Given the description of an element on the screen output the (x, y) to click on. 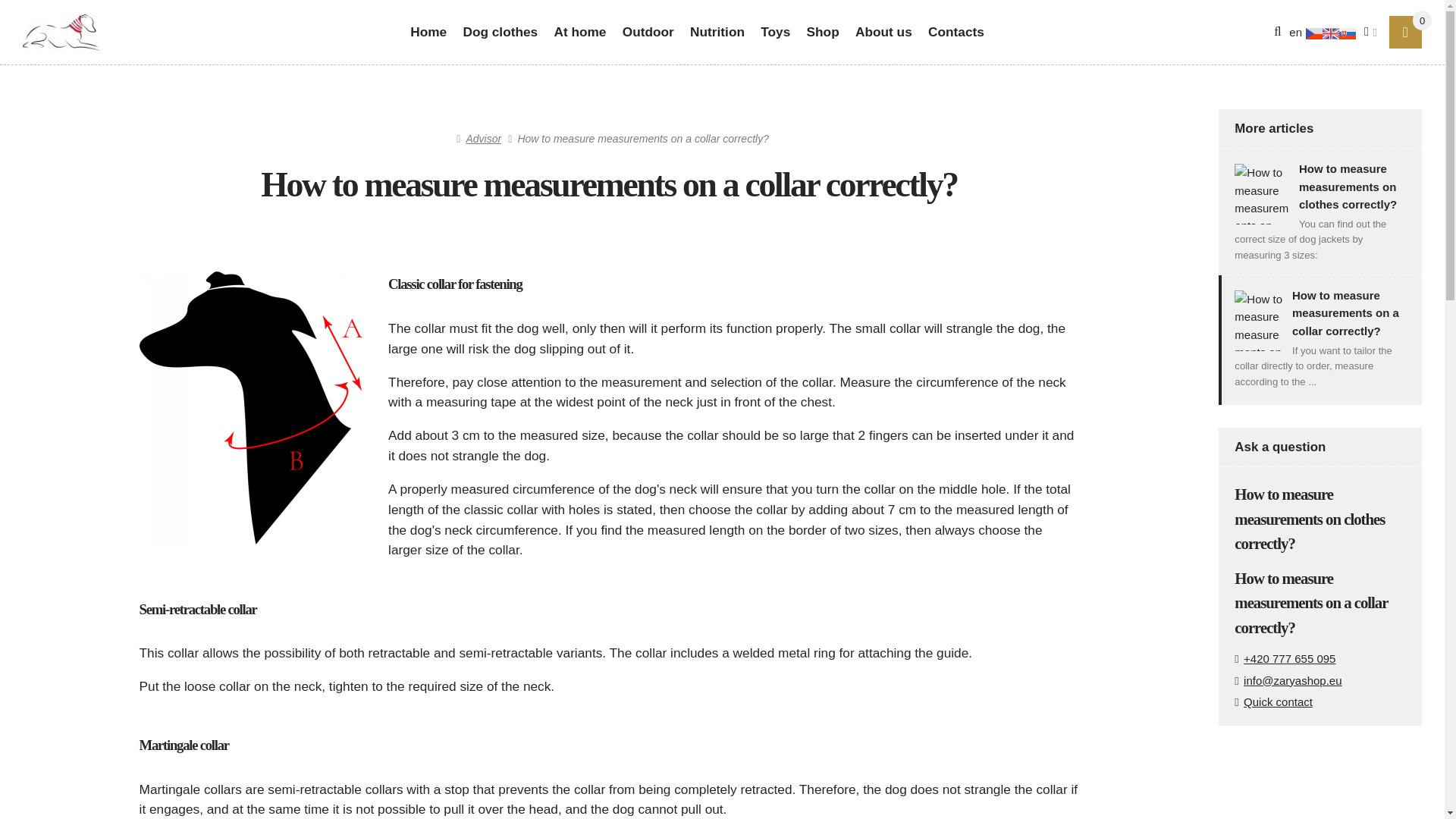
Outdoor (647, 32)
Contacts (955, 32)
Toys (774, 32)
Shop (822, 32)
About us (883, 32)
Nutrition (716, 32)
Home (61, 32)
Home (428, 32)
At home (580, 32)
Dog clothes (500, 32)
